Given the description of an element on the screen output the (x, y) to click on. 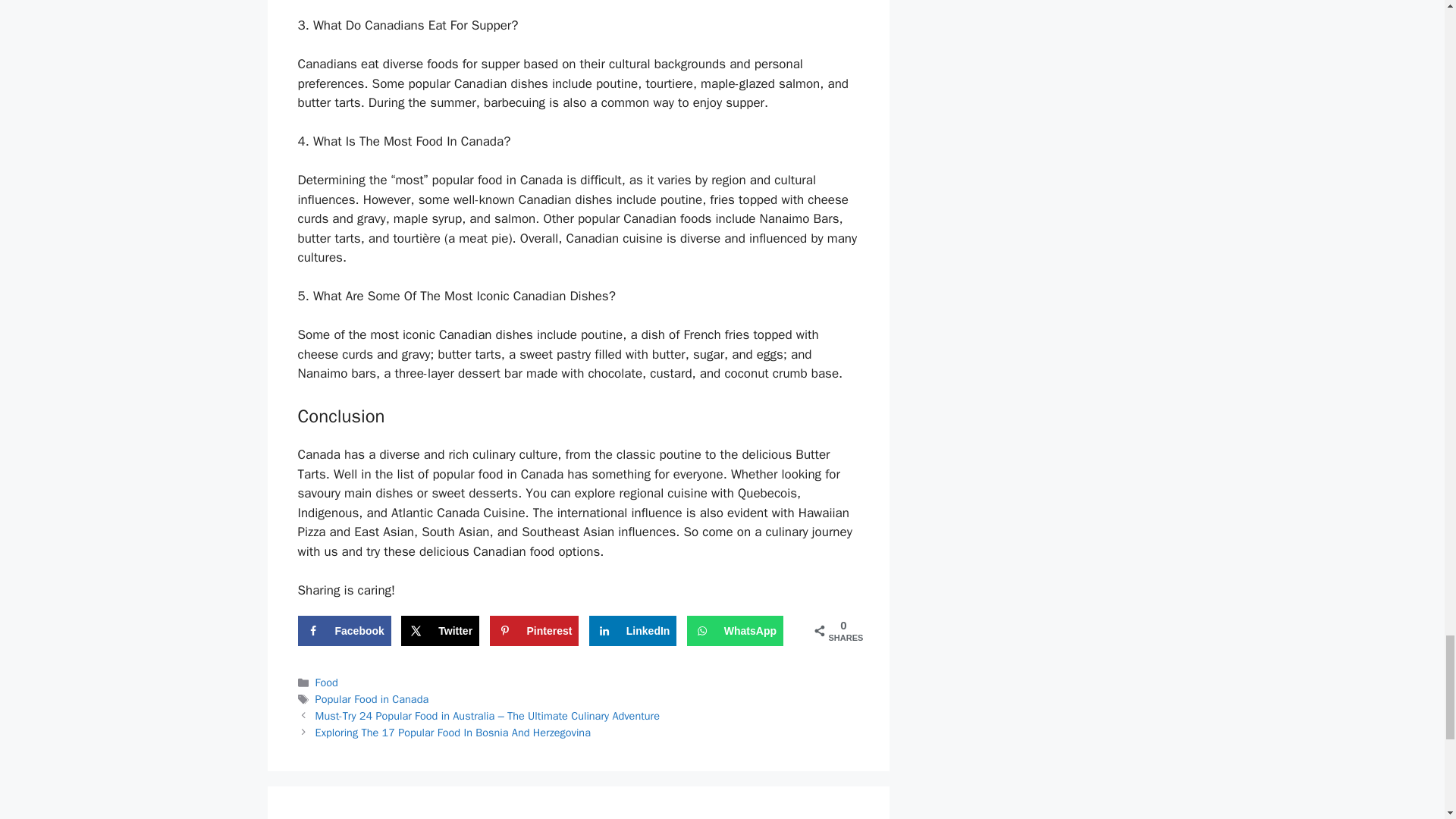
Share on X (440, 630)
LinkedIn (633, 630)
Pinterest (534, 630)
Share on LinkedIn (633, 630)
WhatsApp (735, 630)
Twitter (440, 630)
Share on WhatsApp (735, 630)
Save to Pinterest (534, 630)
Share on Facebook (343, 630)
Facebook (343, 630)
Exploring The 17 Popular Food In Bosnia And Herzegovina (453, 731)
Food (326, 682)
Popular Food in Canada (372, 698)
